Given the description of an element on the screen output the (x, y) to click on. 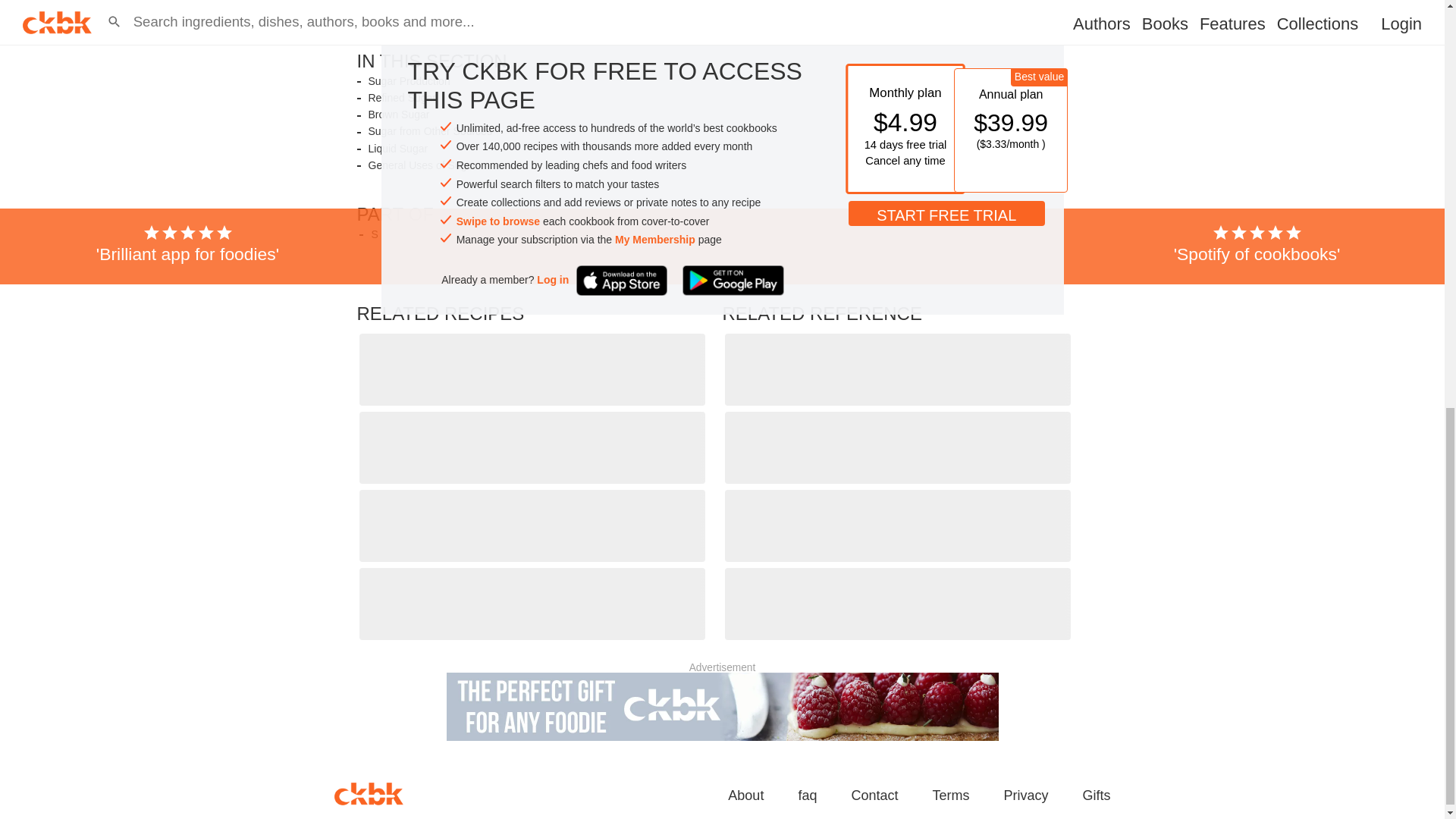
Brown Sugar (398, 114)
Liquid Sugar (398, 148)
Refined Sugar (402, 97)
Sugar from Other Sources (430, 131)
Sugar Production (408, 81)
